Given the description of an element on the screen output the (x, y) to click on. 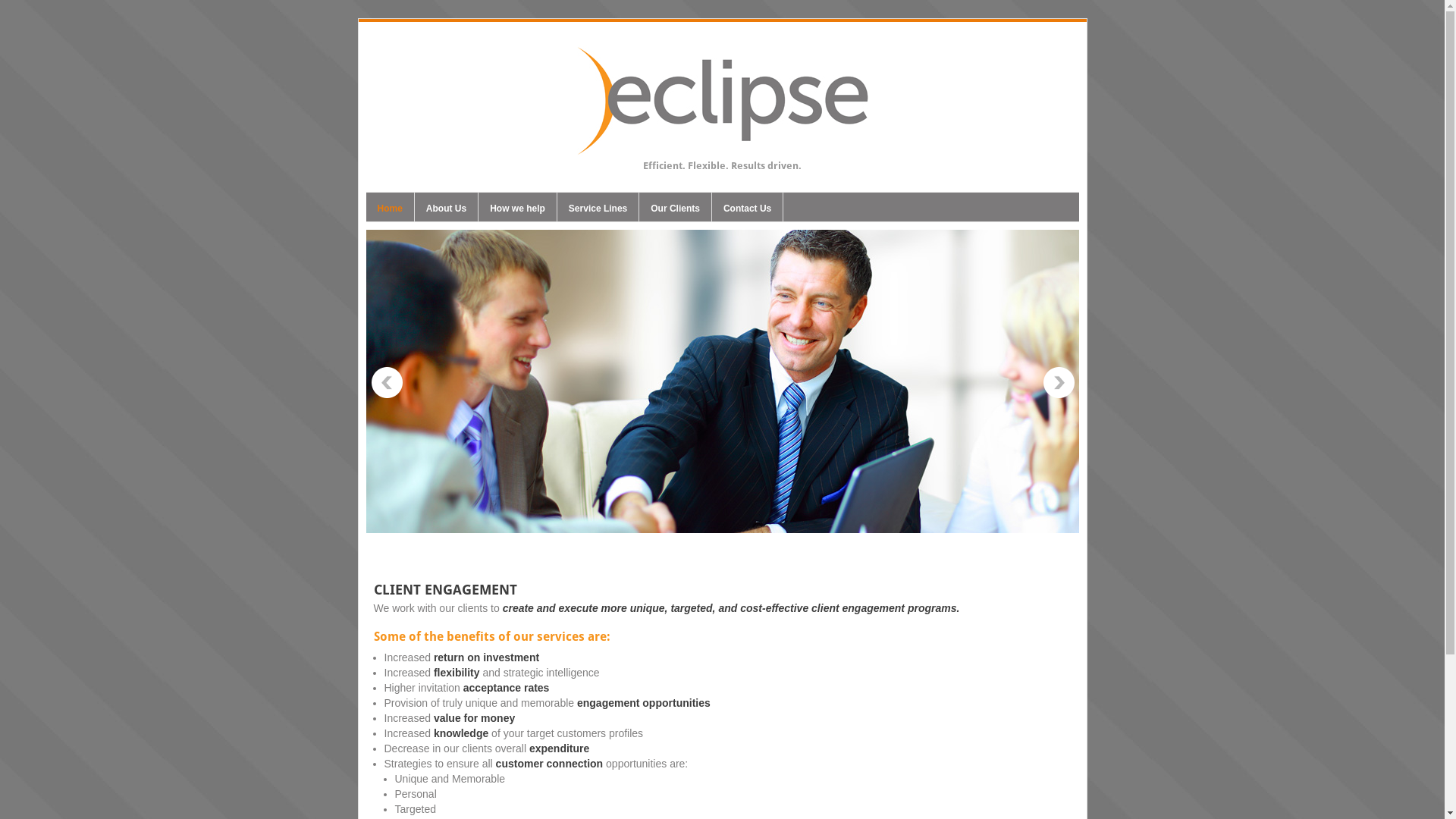
Home Element type: text (389, 210)
How we help Element type: text (517, 210)
Our Clients Element type: text (675, 210)
Who do you want to connect with? Element type: hover (721, 381)
Eclipse Element type: hover (721, 147)
Contact Us Element type: text (747, 210)
Previous Element type: text (386, 382)
Next Element type: text (1058, 382)
Service Lines Element type: text (597, 210)
About Us Element type: text (445, 210)
